Given the description of an element on the screen output the (x, y) to click on. 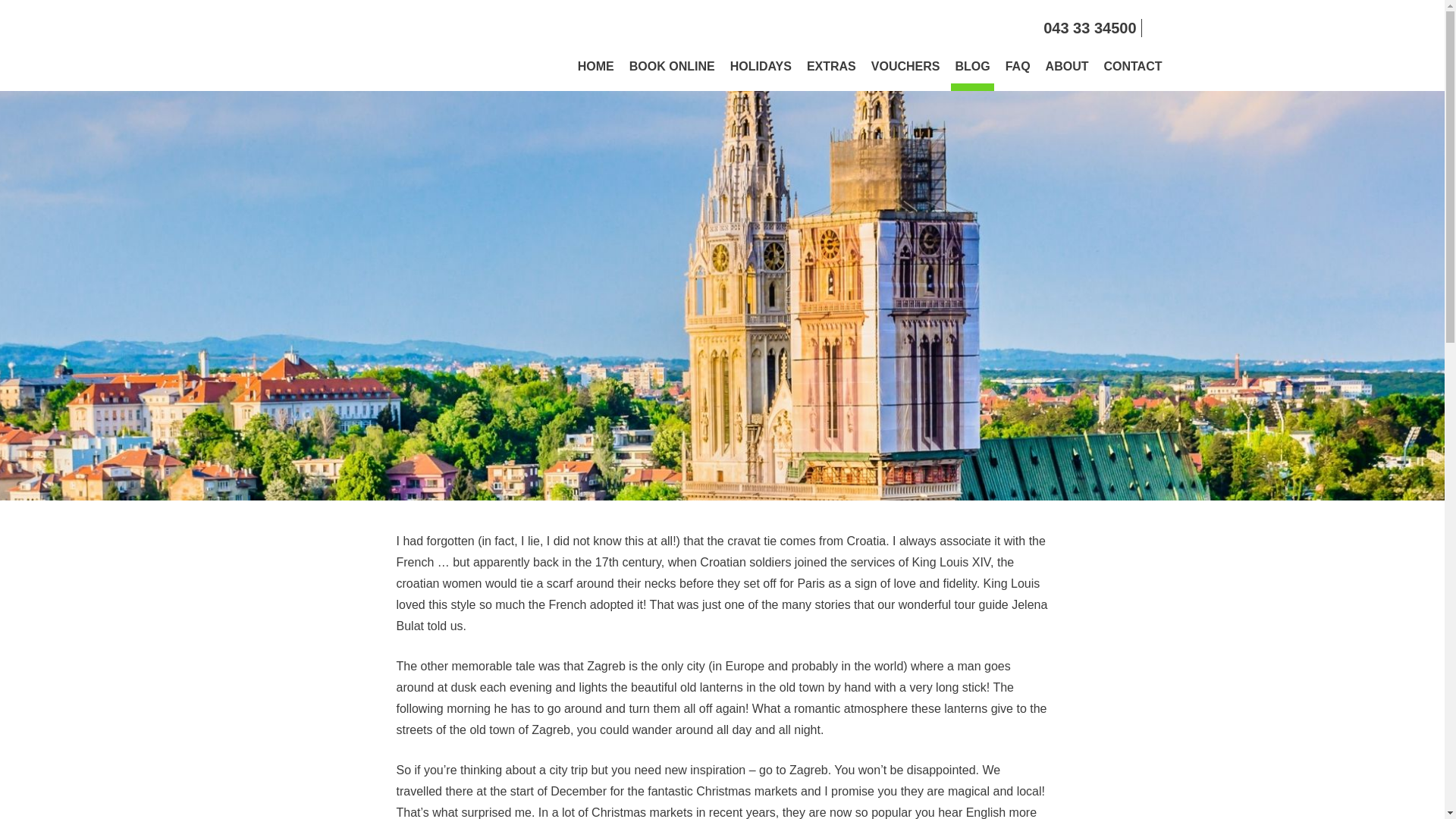
CONTACT (1132, 73)
ABOUT (1067, 73)
043 33 34500 (1089, 27)
BOOK ONLINE (672, 73)
FAQ (1017, 73)
BLOG (971, 73)
HOME (595, 73)
VOUCHERS (905, 73)
